Given the description of an element on the screen output the (x, y) to click on. 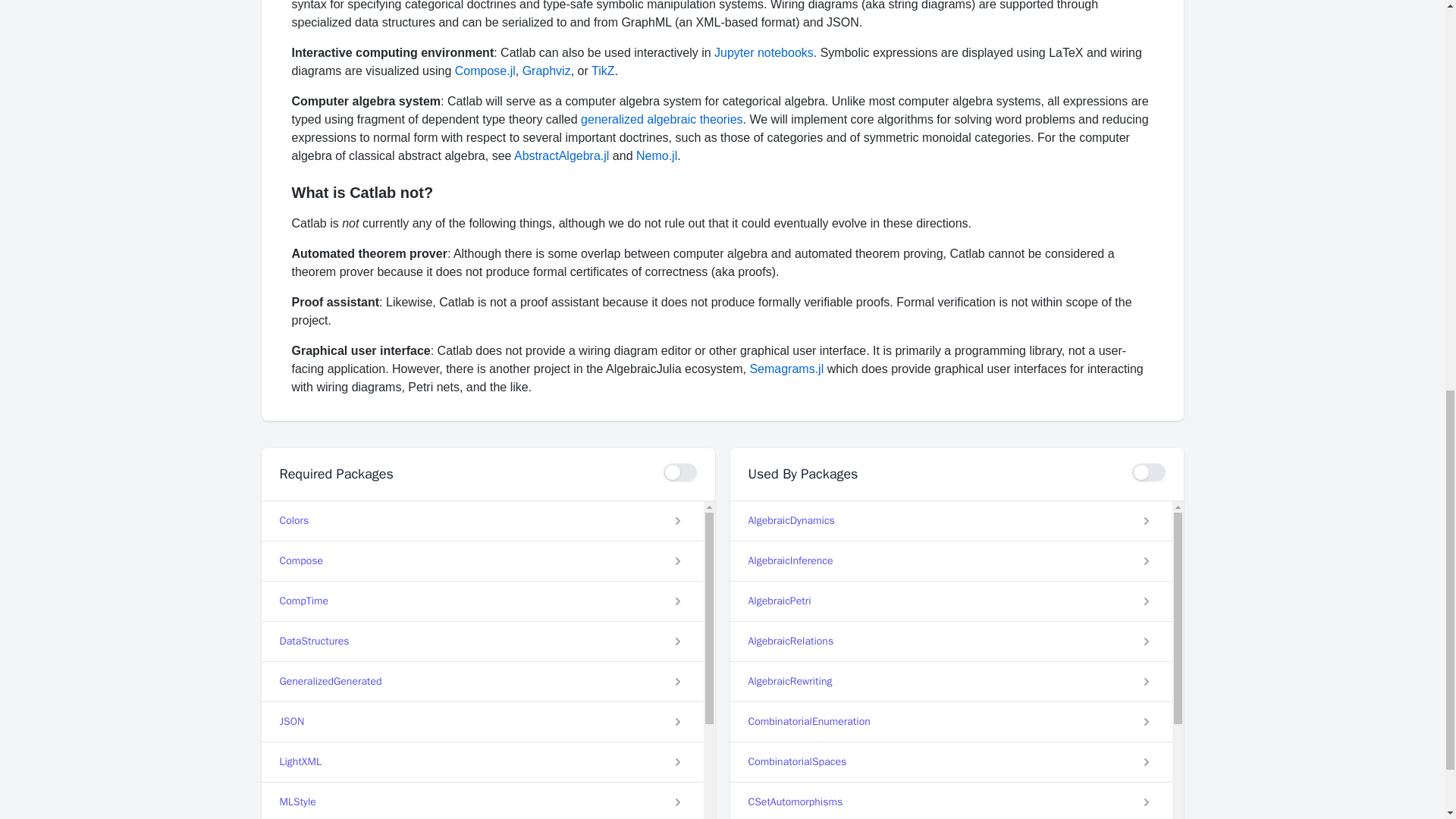
TikZ (602, 70)
Graphviz (546, 70)
Jupyter notebooks (763, 51)
Compose.jl (484, 70)
generalized algebraic theories (661, 119)
AbstractAlgebra.jl (560, 155)
